Given the description of an element on the screen output the (x, y) to click on. 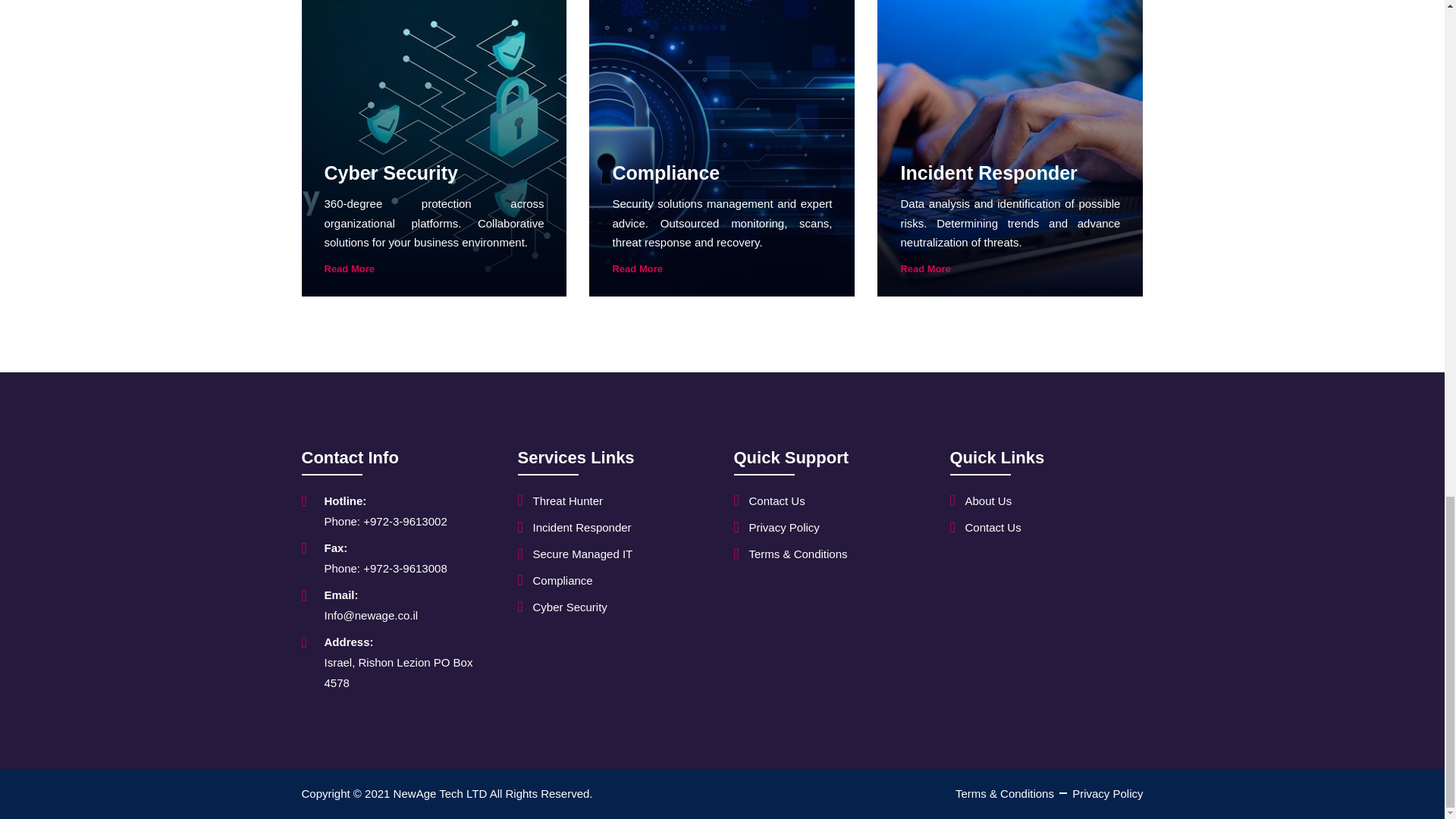
Incident Responder (573, 526)
Read More (434, 268)
Cyber Security (561, 607)
Threat Hunter (559, 500)
Secure Managed IT (573, 553)
Compliance (554, 580)
Privacy Policy (776, 526)
Read More (1009, 268)
Read More (721, 268)
Contact Us (769, 500)
